Given the description of an element on the screen output the (x, y) to click on. 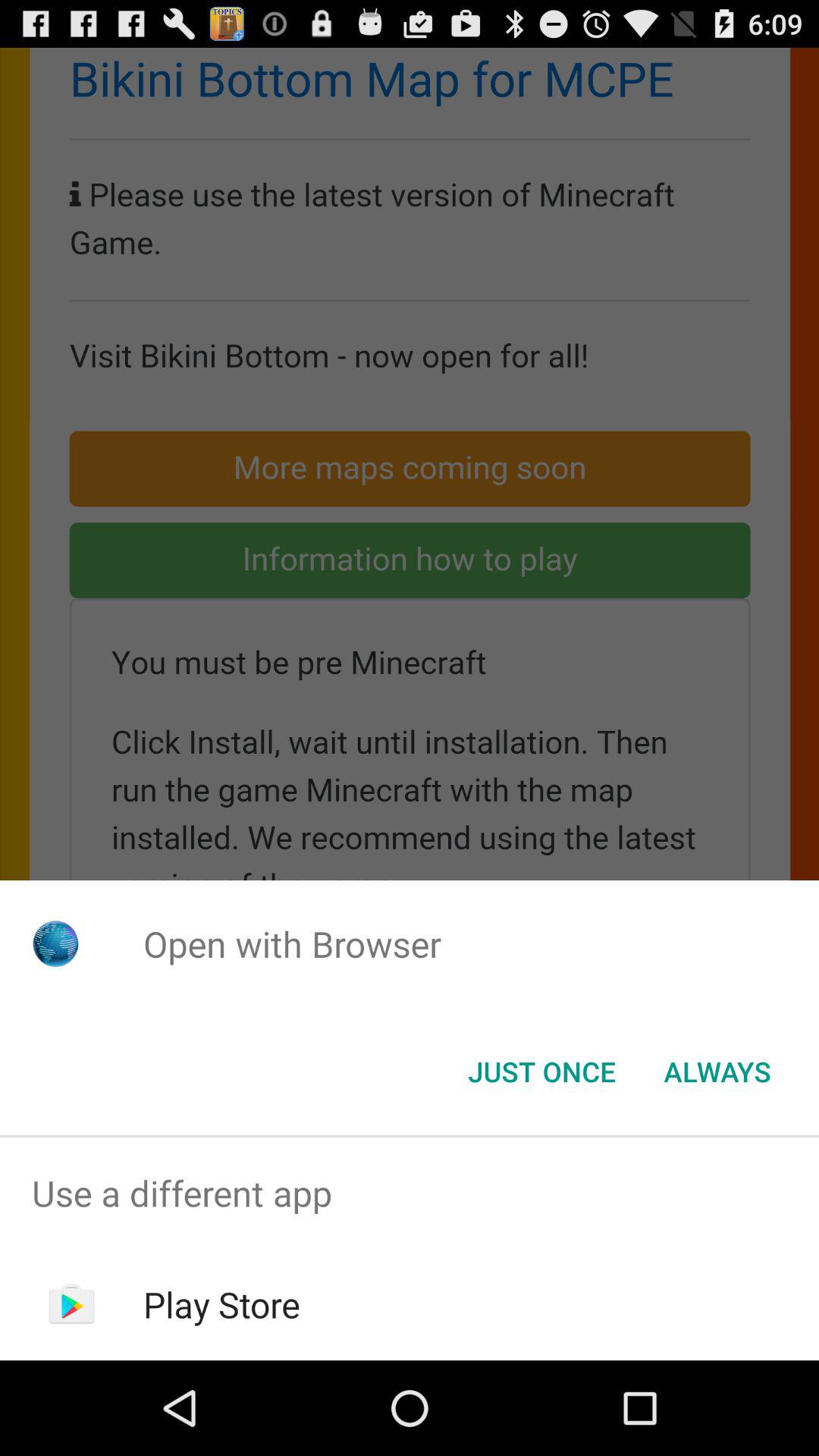
turn off item below open with browser icon (541, 1071)
